Given the description of an element on the screen output the (x, y) to click on. 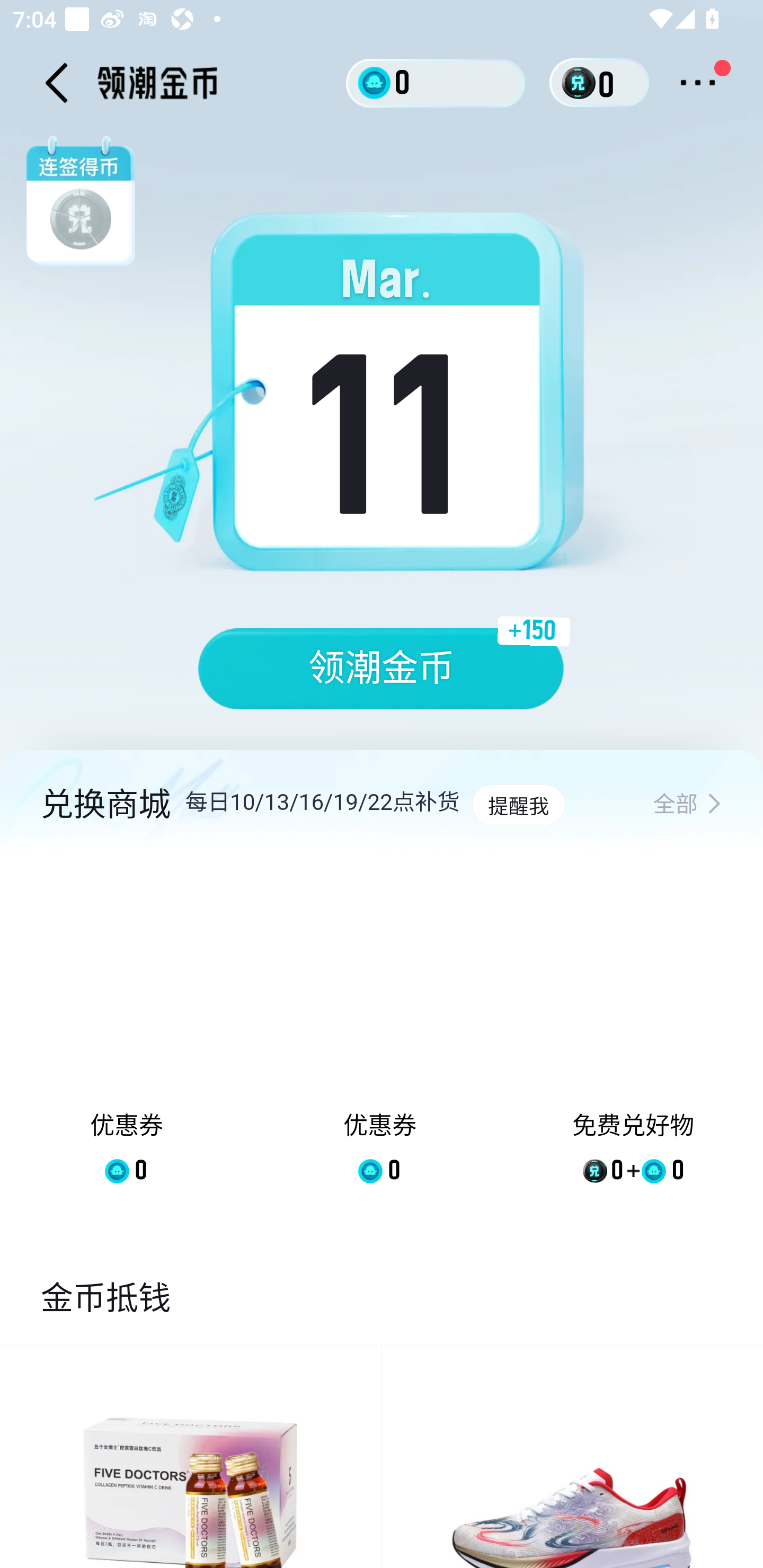
0 (435, 82)
format,webp 0 (581, 83)
领潮金币 + 150 (381, 668)
提醒我 (518, 805)
全部 (687, 804)
优惠券 0 (127, 1031)
优惠券 0 (379, 1031)
免费兑好物 0 0 (633, 1031)
